Given the description of an element on the screen output the (x, y) to click on. 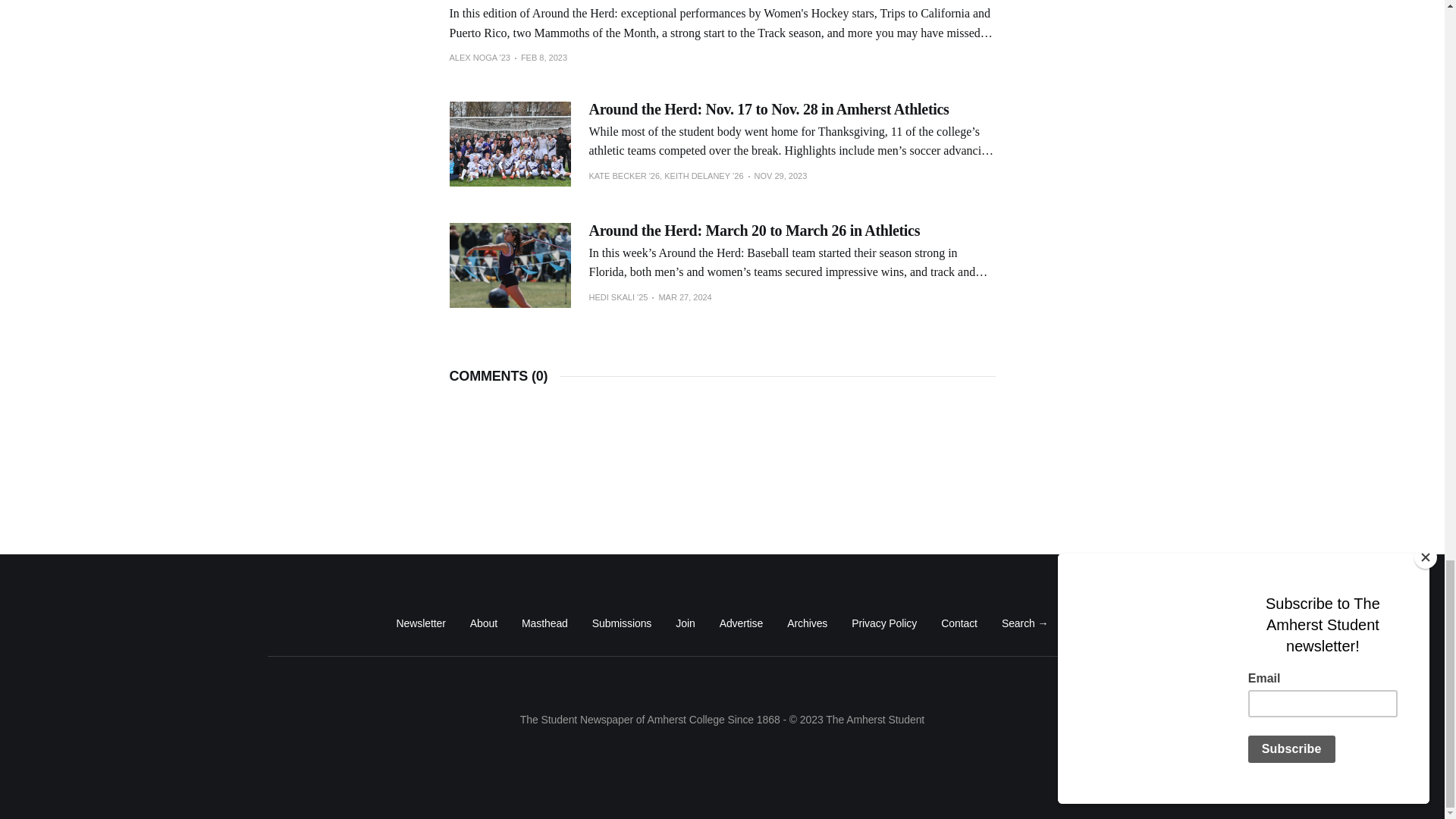
Advertise (740, 623)
Submissions (621, 623)
Privacy Policy (884, 623)
Masthead (544, 623)
Archives (807, 623)
Contact (958, 623)
Join (684, 623)
About (483, 623)
Newsletter (420, 623)
